Given the description of an element on the screen output the (x, y) to click on. 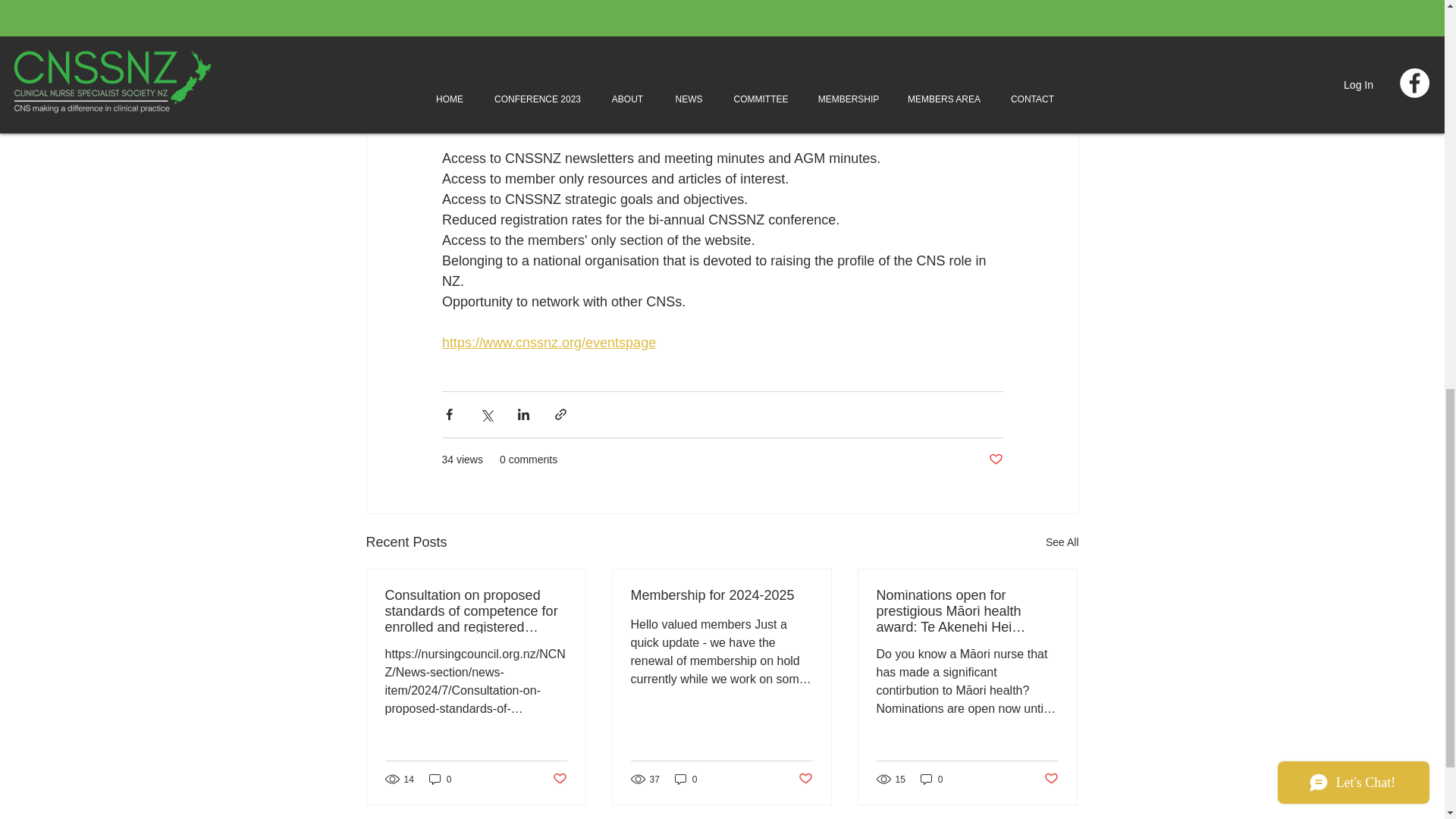
0 (440, 779)
Post not marked as liked (804, 779)
Post not marked as liked (995, 459)
See All (1061, 542)
Post not marked as liked (1050, 779)
Post not marked as liked (558, 779)
Membership for 2024-2025 (721, 595)
0 (931, 779)
0 (685, 779)
